Given the description of an element on the screen output the (x, y) to click on. 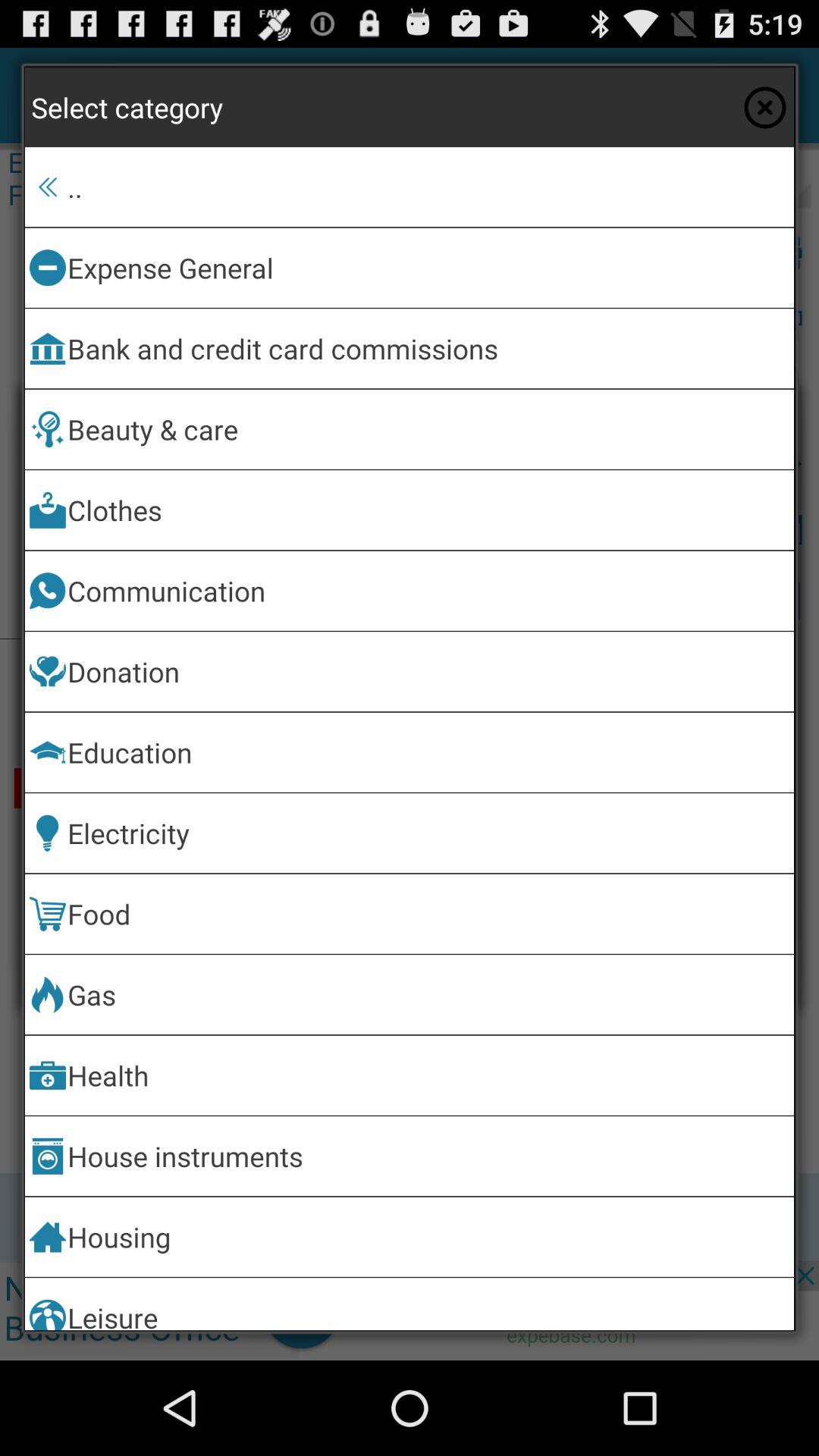
click item above the leisure (427, 1236)
